Given the description of an element on the screen output the (x, y) to click on. 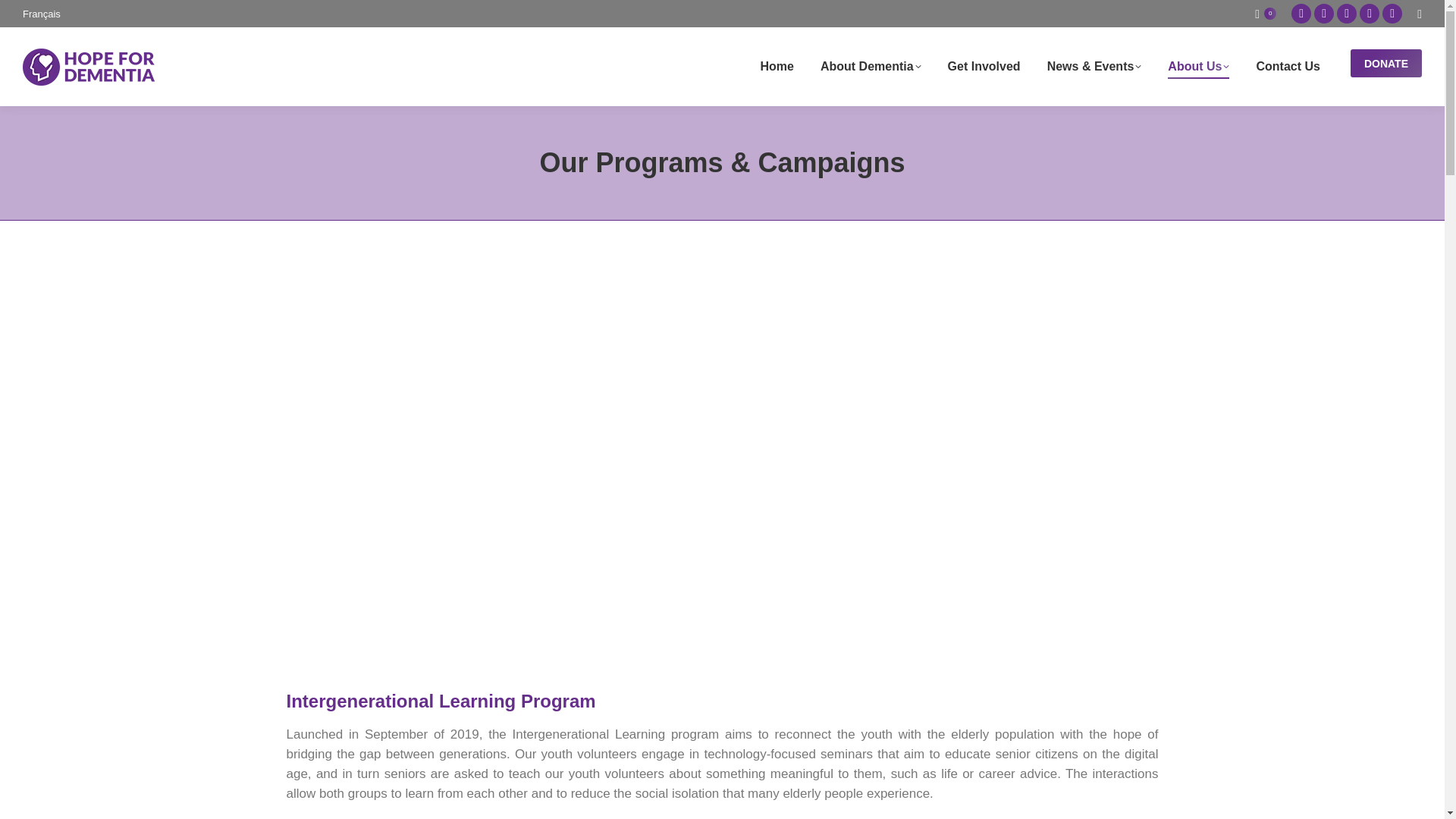
Instagram page opens in new window (1368, 13)
Twitter page opens in new window (1323, 13)
Get Involved (983, 66)
Twitter page opens in new window (1323, 13)
About Us (1198, 66)
Linkedin page opens in new window (1391, 13)
About Dementia (870, 66)
Facebook page opens in new window (1301, 13)
 0 (1265, 12)
Go! (24, 15)
YouTube page opens in new window (1346, 13)
Facebook page opens in new window (1301, 13)
Linkedin page opens in new window (1391, 13)
Instagram page opens in new window (1368, 13)
YouTube page opens in new window (1346, 13)
